Given the description of an element on the screen output the (x, y) to click on. 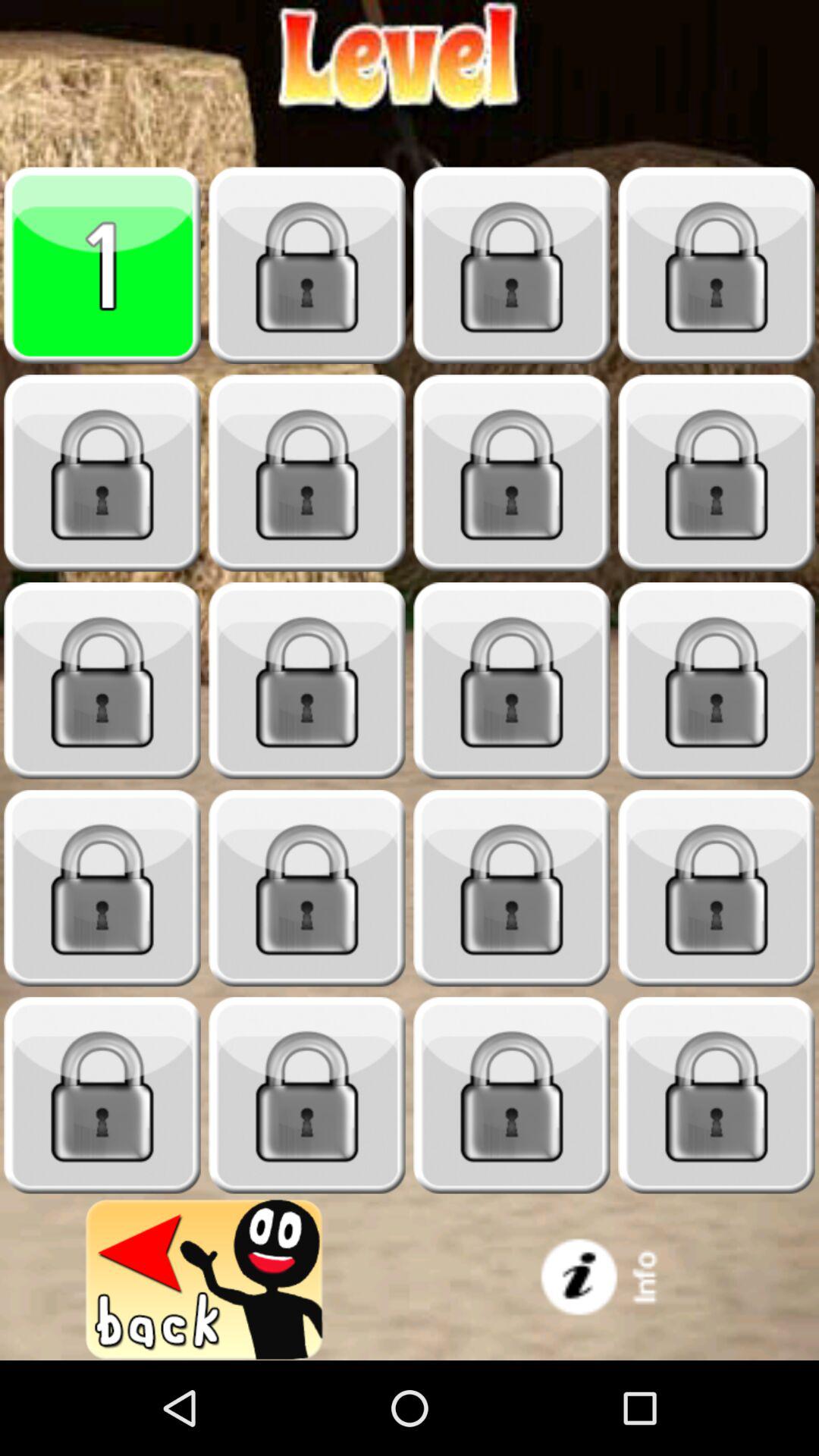
go to level (716, 680)
